Given the description of an element on the screen output the (x, y) to click on. 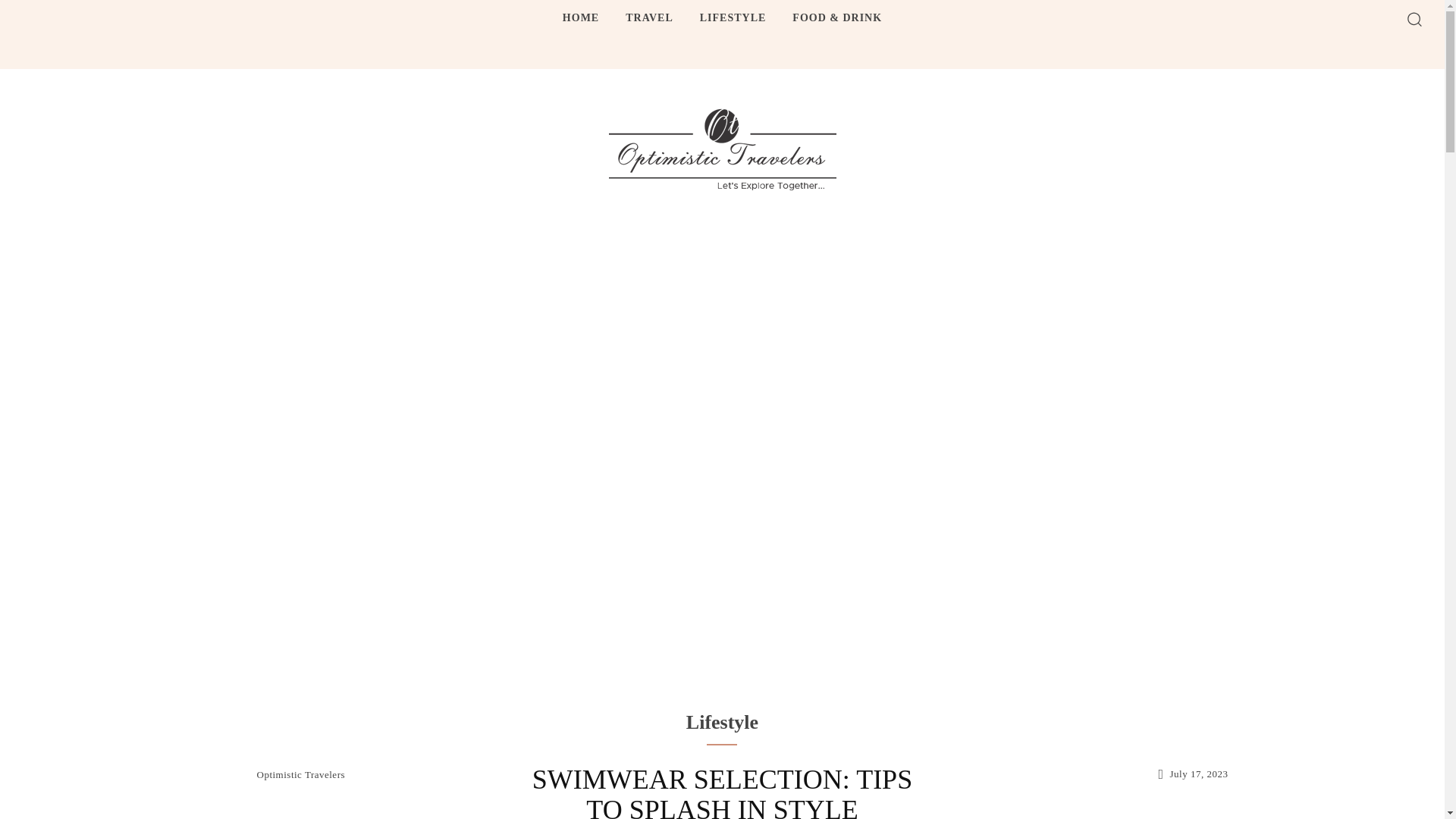
TRAVEL (649, 18)
Optimistic Travelers (300, 775)
Lifestyle (721, 722)
Optimistic Travelers (721, 149)
HOME (580, 18)
Optimistic Travelers (235, 774)
LIFESTYLE (733, 18)
Optimistic Travelers (722, 149)
